Given the description of an element on the screen output the (x, y) to click on. 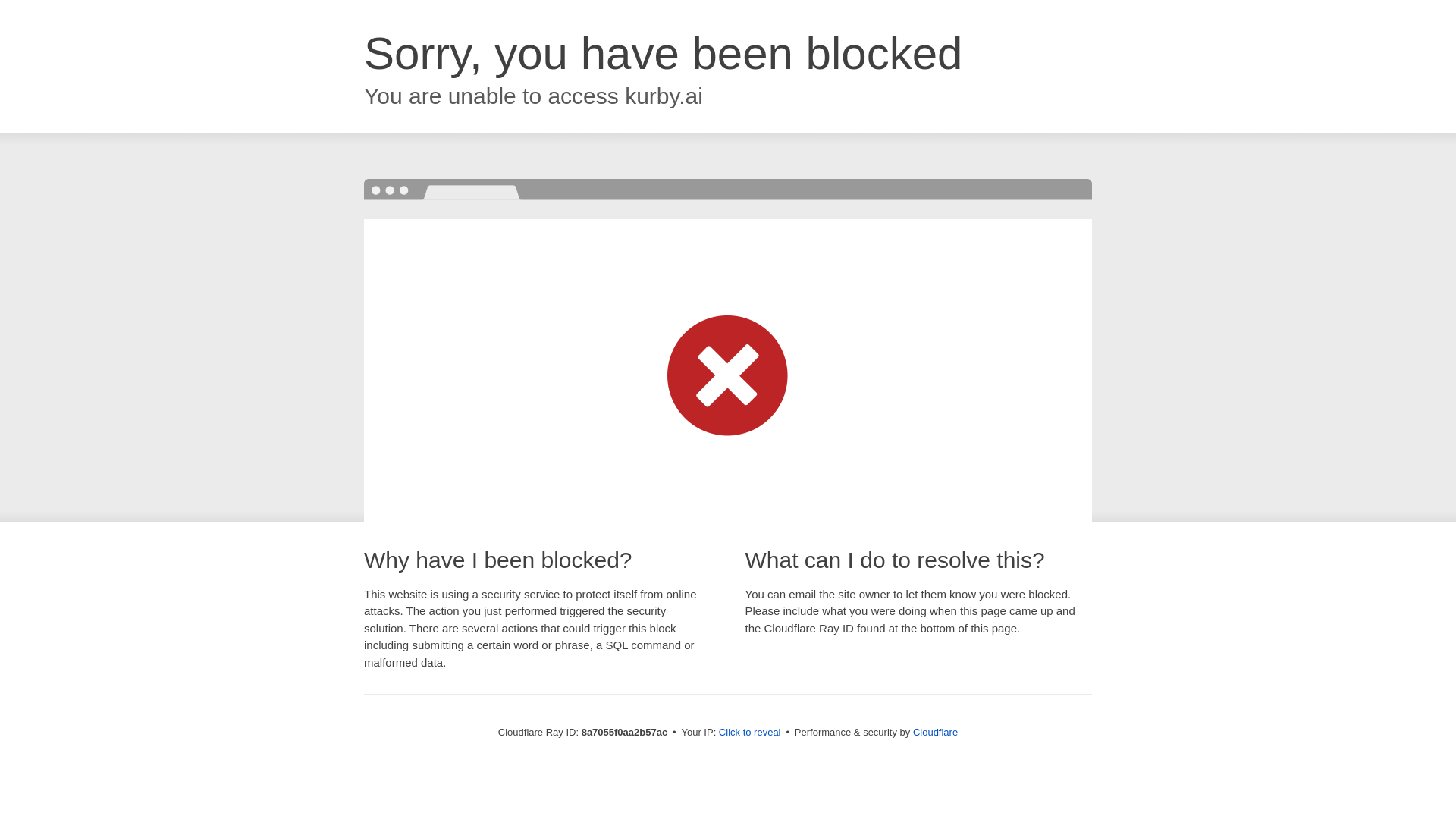
Cloudflare (935, 731)
Click to reveal (749, 732)
